Given the description of an element on the screen output the (x, y) to click on. 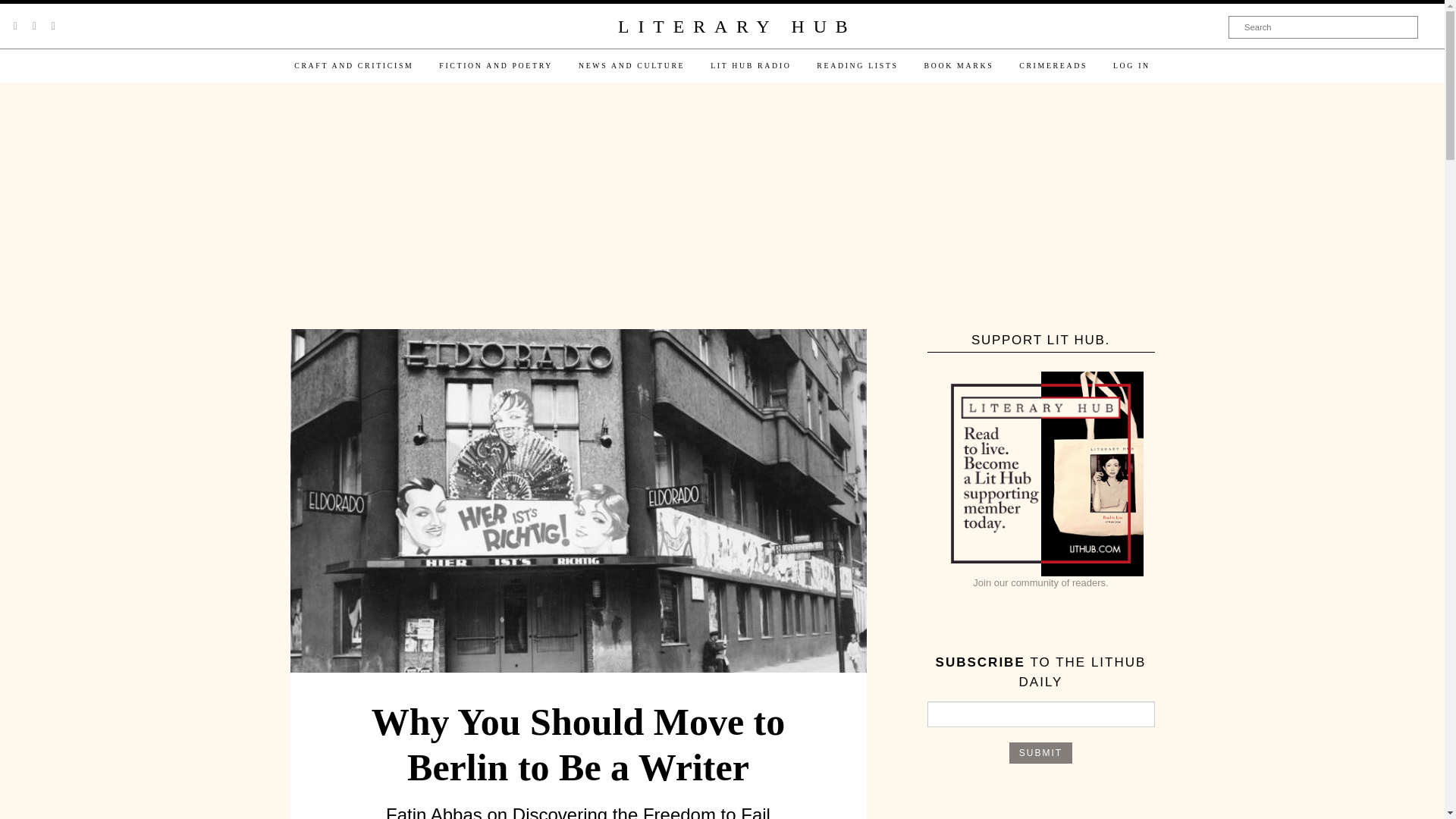
FICTION AND POETRY (496, 65)
CRAFT AND CRITICISM (353, 65)
Search (1323, 26)
NEWS AND CULTURE (631, 65)
LITERARY HUB (736, 26)
